Given the description of an element on the screen output the (x, y) to click on. 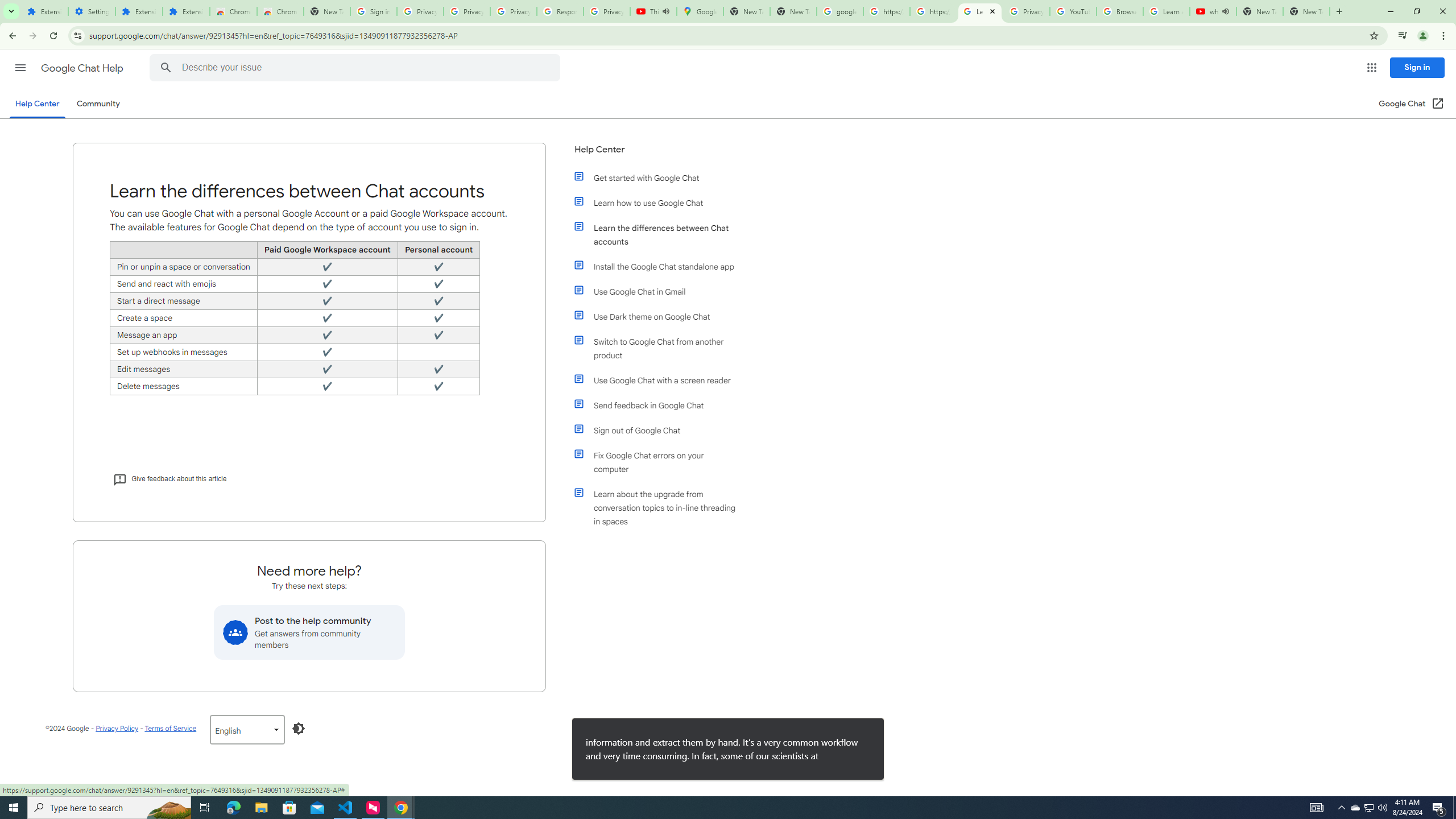
Extensions (186, 11)
Extensions (44, 11)
Sign in - Google Accounts (373, 11)
Enable Dark Mode (299, 728)
YouTube (1073, 11)
Fix Google Chat errors on your computer (661, 462)
Sign out of Google Chat (661, 430)
Extensions (138, 11)
https://scholar.google.com/ (933, 11)
